Given the description of an element on the screen output the (x, y) to click on. 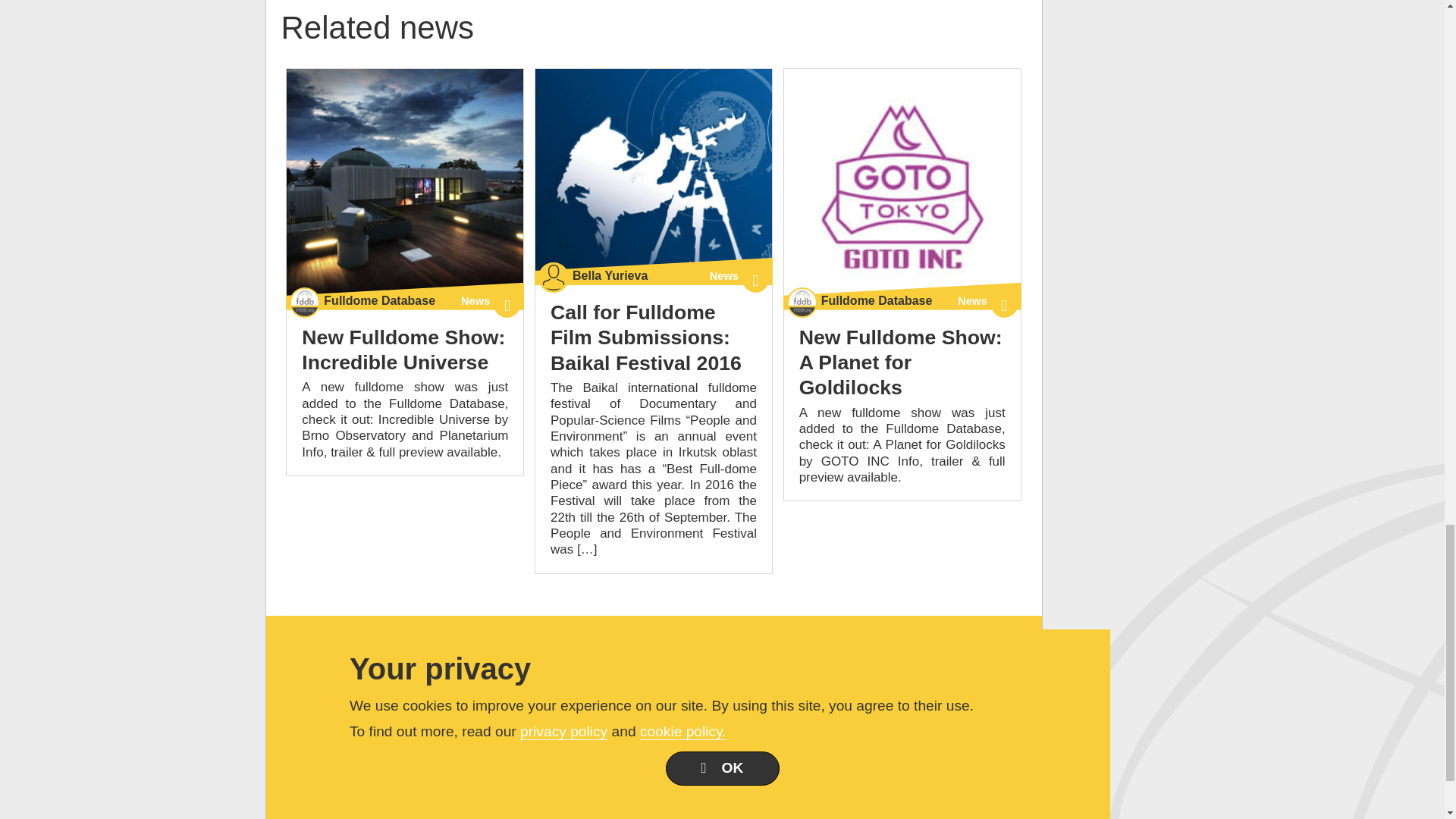
Call for Fulldome Film Submissions: Baikal Festival 2016 (645, 337)
Call for Fulldome Film Submissions: Baikal Festival 2016 (653, 174)
New Fulldome Show: A Planet for Goldilocks (902, 186)
New Fulldome Show: A Planet for Goldilocks (901, 362)
New Fulldome Show: Incredible Universe (404, 186)
New Fulldome Show: Incredible Universe (403, 349)
